Given the description of an element on the screen output the (x, y) to click on. 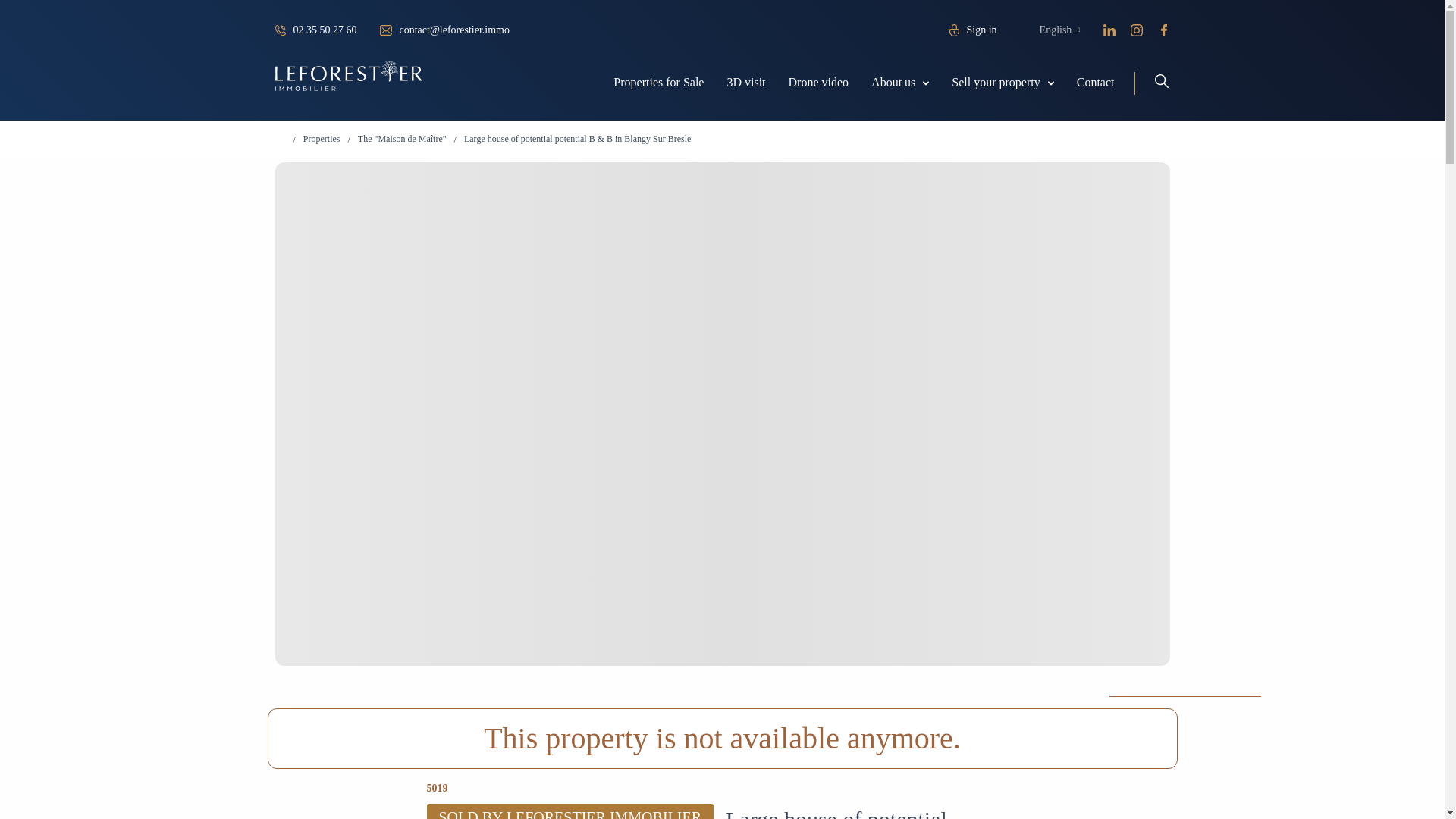
Drone video (818, 82)
Properties for Sale (657, 82)
Contact (1096, 82)
Home (280, 139)
3D visit (745, 82)
About us (892, 82)
Sign in (980, 29)
02 35 50 27 60 (324, 29)
Sell your property (995, 82)
Properties (321, 138)
